Given the description of an element on the screen output the (x, y) to click on. 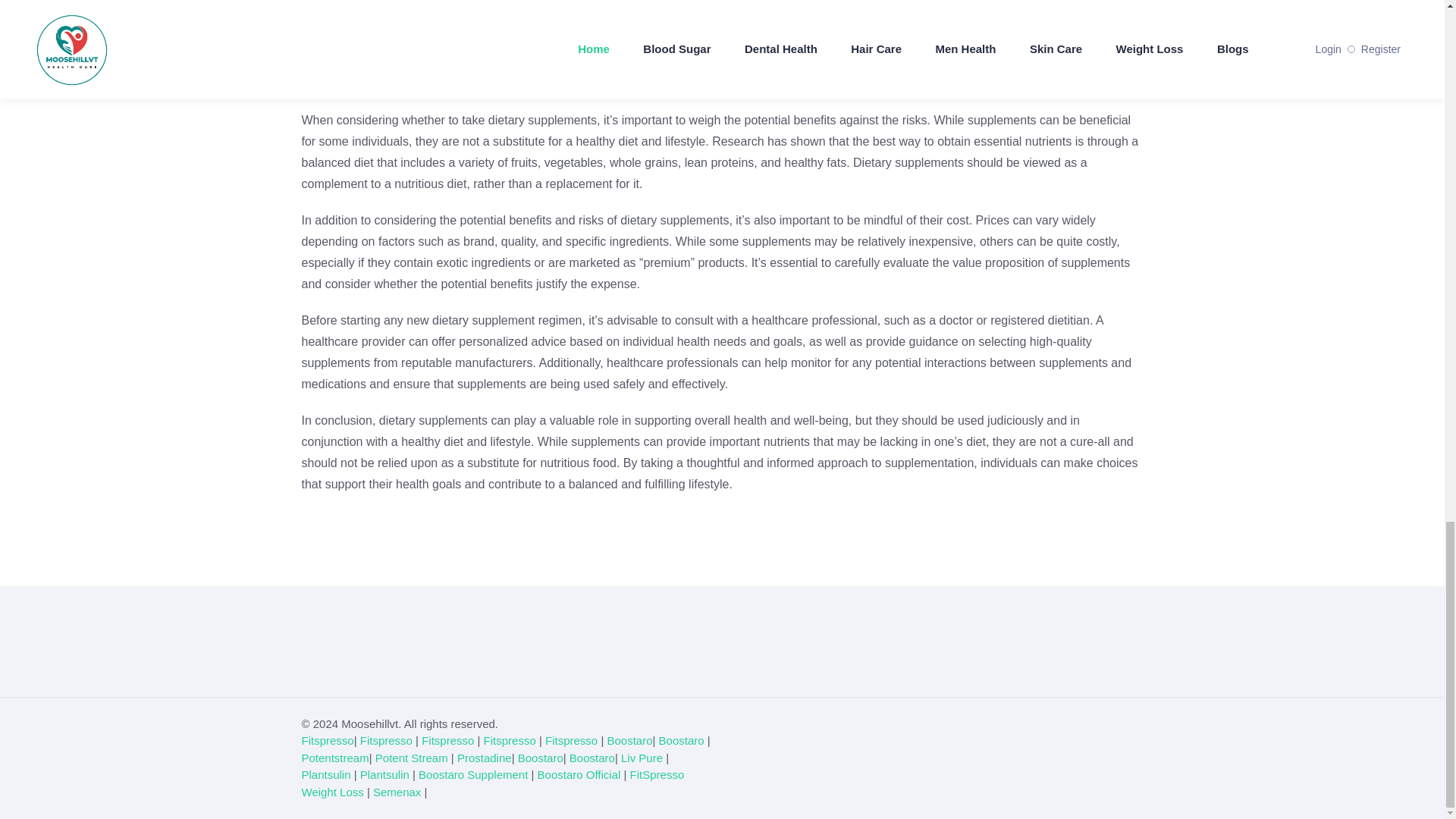
Fitspresso (570, 739)
Fitspresso (327, 739)
Boostaro (681, 739)
Fitspresso (385, 739)
Boostaro (629, 739)
Potentstream (335, 757)
Prostadine (484, 757)
Boostaro (540, 757)
Potent Stream (411, 757)
Fitspresso (448, 739)
Fitspresso (509, 739)
